Given the description of an element on the screen output the (x, y) to click on. 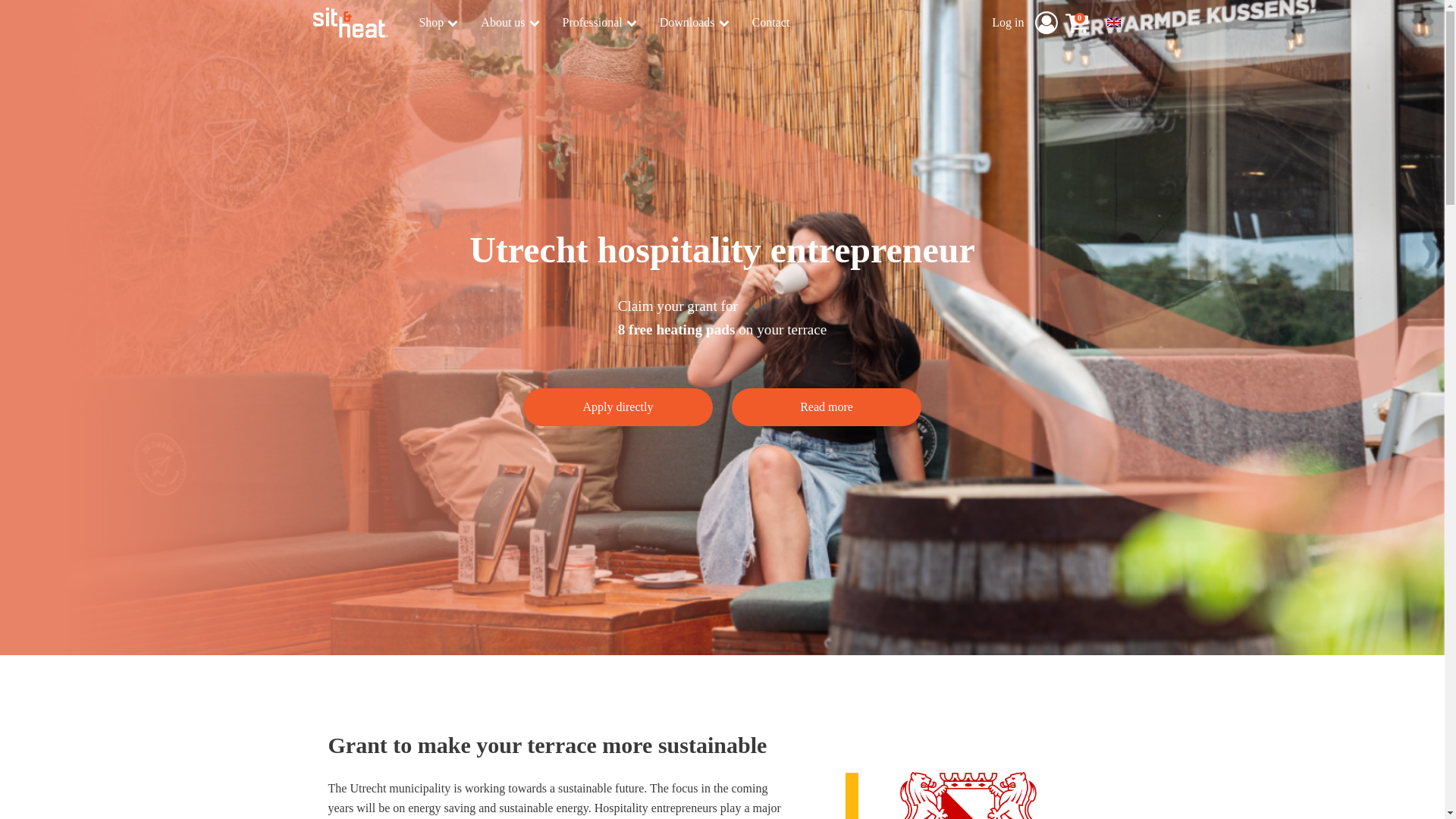
Downloads (694, 22)
Apply directly (617, 406)
English (1113, 22)
Professional (599, 22)
About us (509, 22)
Log in  (1008, 22)
municipality of Utrecht (581, 818)
Contact (771, 22)
Shop (437, 22)
Read more (826, 406)
